Given the description of an element on the screen output the (x, y) to click on. 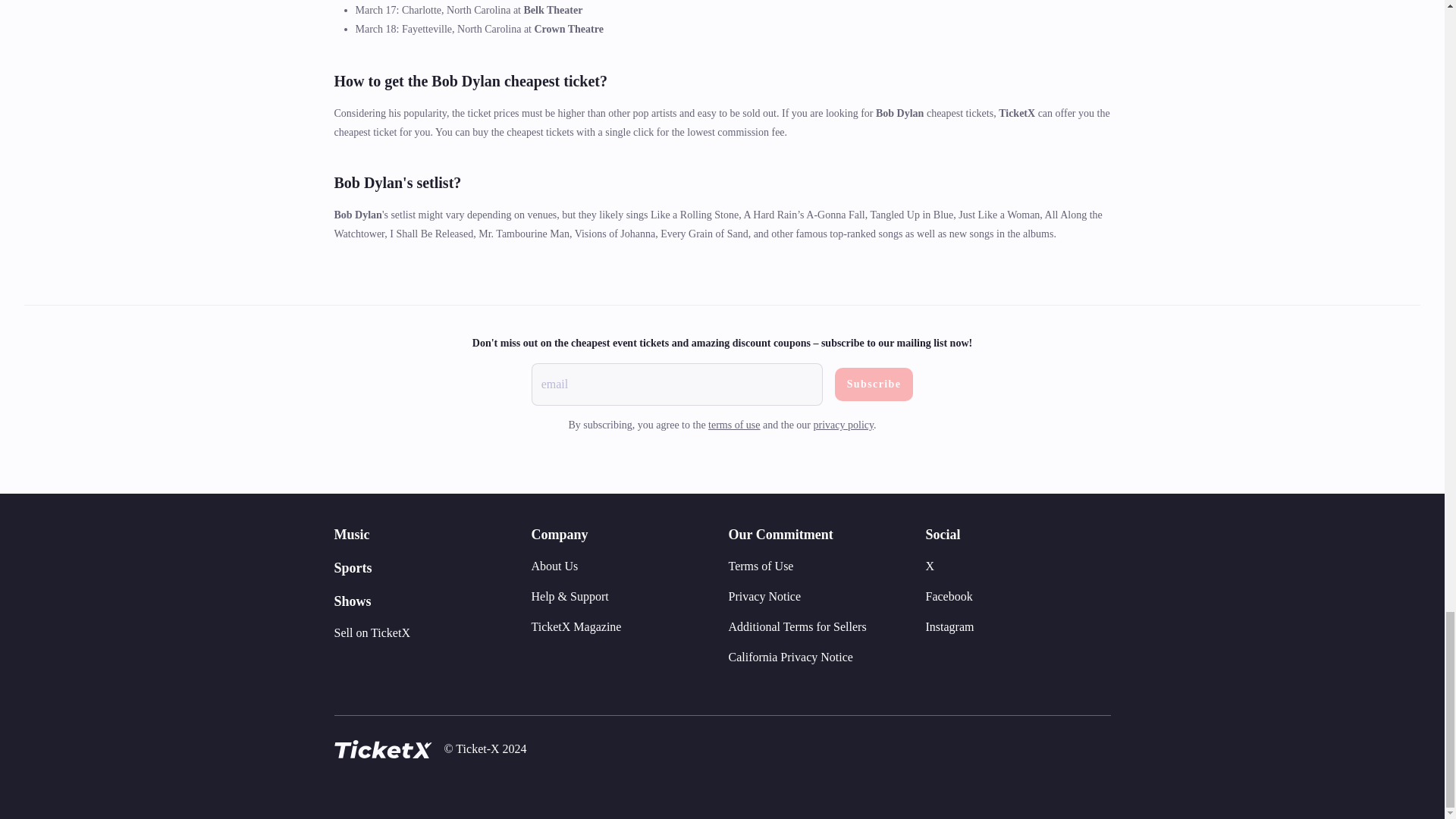
Music (351, 534)
terms of use (733, 424)
privacy policy (844, 424)
Sell on TicketX (371, 632)
Shows (352, 601)
Sports (352, 567)
Subscribe (874, 384)
About Us (554, 566)
